Given the description of an element on the screen output the (x, y) to click on. 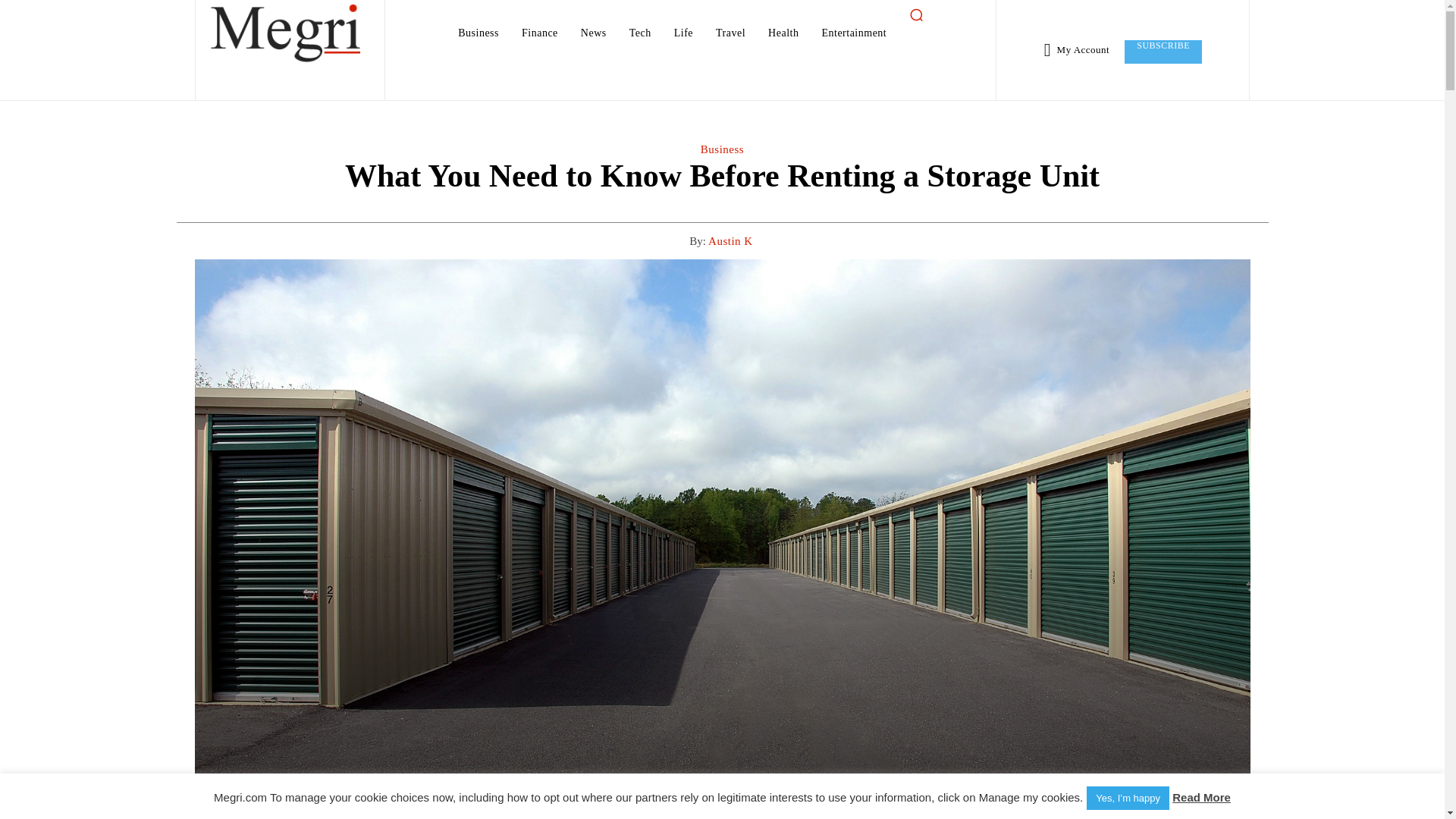
Finance (539, 33)
Business (477, 33)
